Given the description of an element on the screen output the (x, y) to click on. 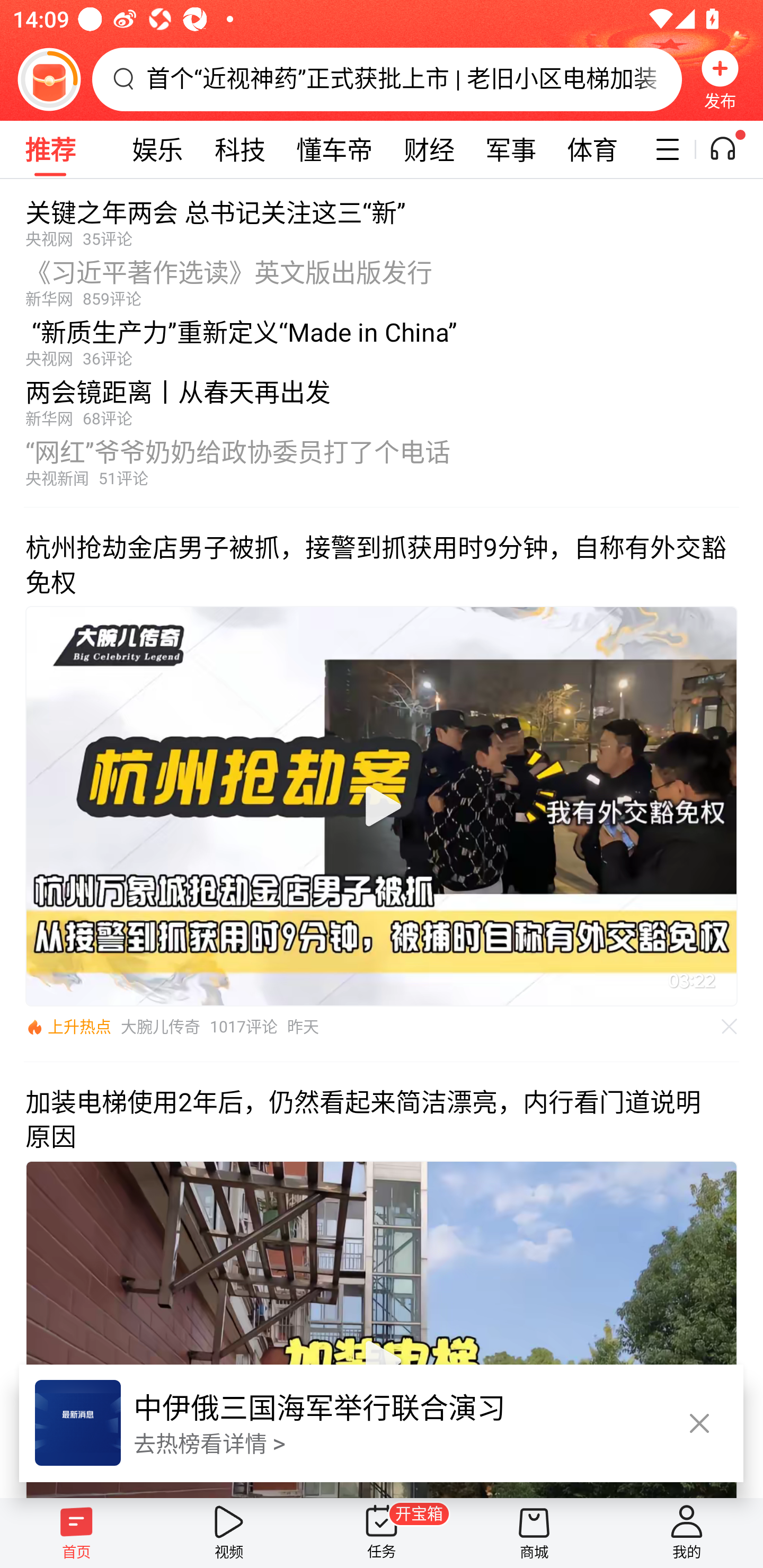
阅读赚金币 (48, 79)
发布 发布，按钮 (720, 78)
推荐 (49, 149)
娱乐 (157, 149)
科技 (239, 149)
懂车帝 (334, 149)
财经 (428, 149)
军事 (510, 149)
体育 (592, 149)
听一听开关 (732, 149)
两会镜距离丨从春天再出发新华网68评论 文章 两会镜距离丨从春天再出发 新华网68评论 (381, 398)
播放视频 视频播放器，双击屏幕打开播放控制 (381, 805)
播放视频 (381, 806)
不感兴趣 (729, 1026)
播放视频 视频播放器，双击屏幕打开播放控制 (381, 1328)
关闭按钮 (699, 1423)
首页 (76, 1532)
视频 (228, 1532)
任务 开宝箱 (381, 1532)
商城 (533, 1532)
我的 (686, 1532)
